Given the description of an element on the screen output the (x, y) to click on. 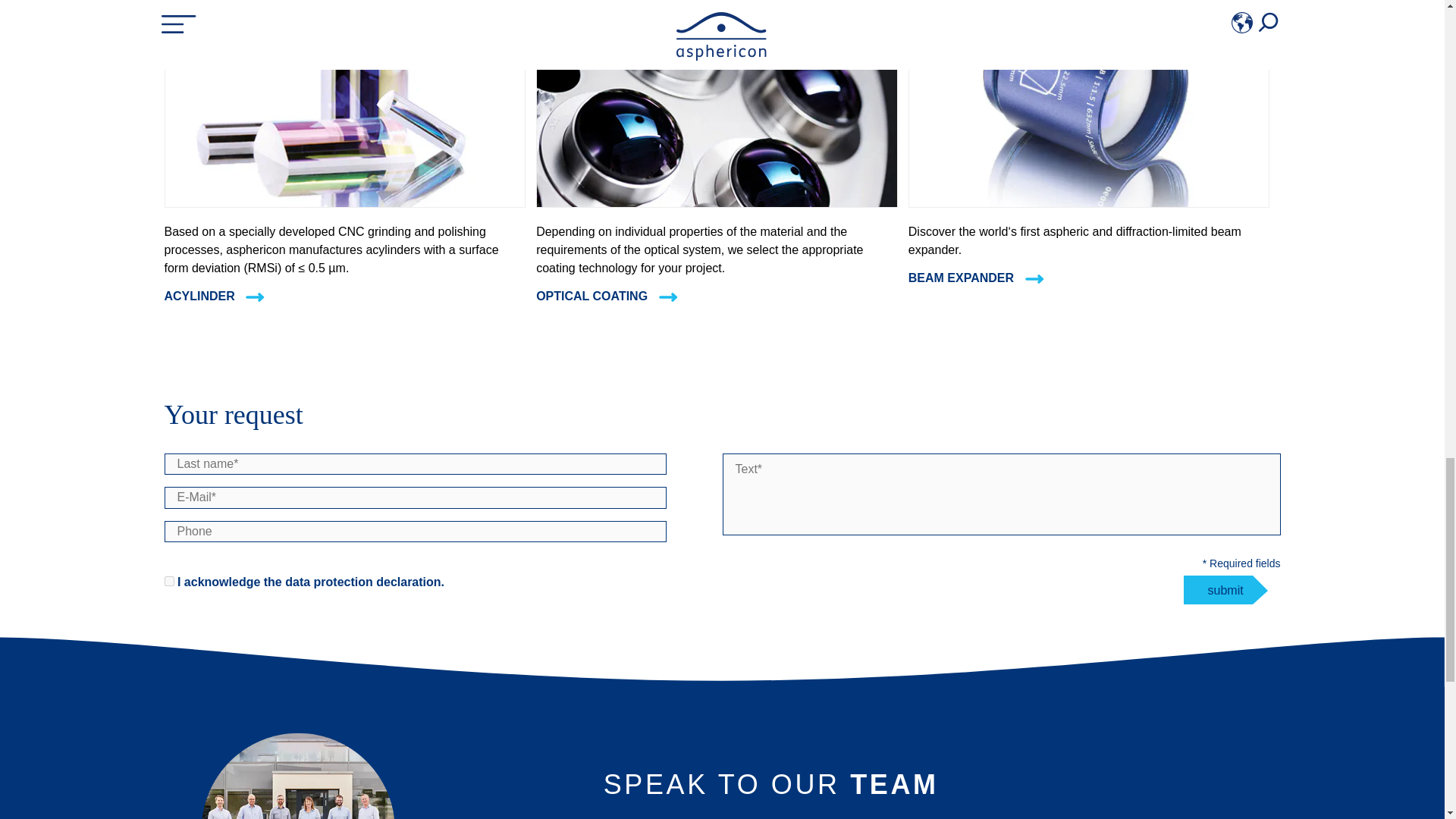
on (168, 581)
Beam Expander (1088, 203)
Optical Coating (716, 203)
Acylinder (344, 203)
